Given the description of an element on the screen output the (x, y) to click on. 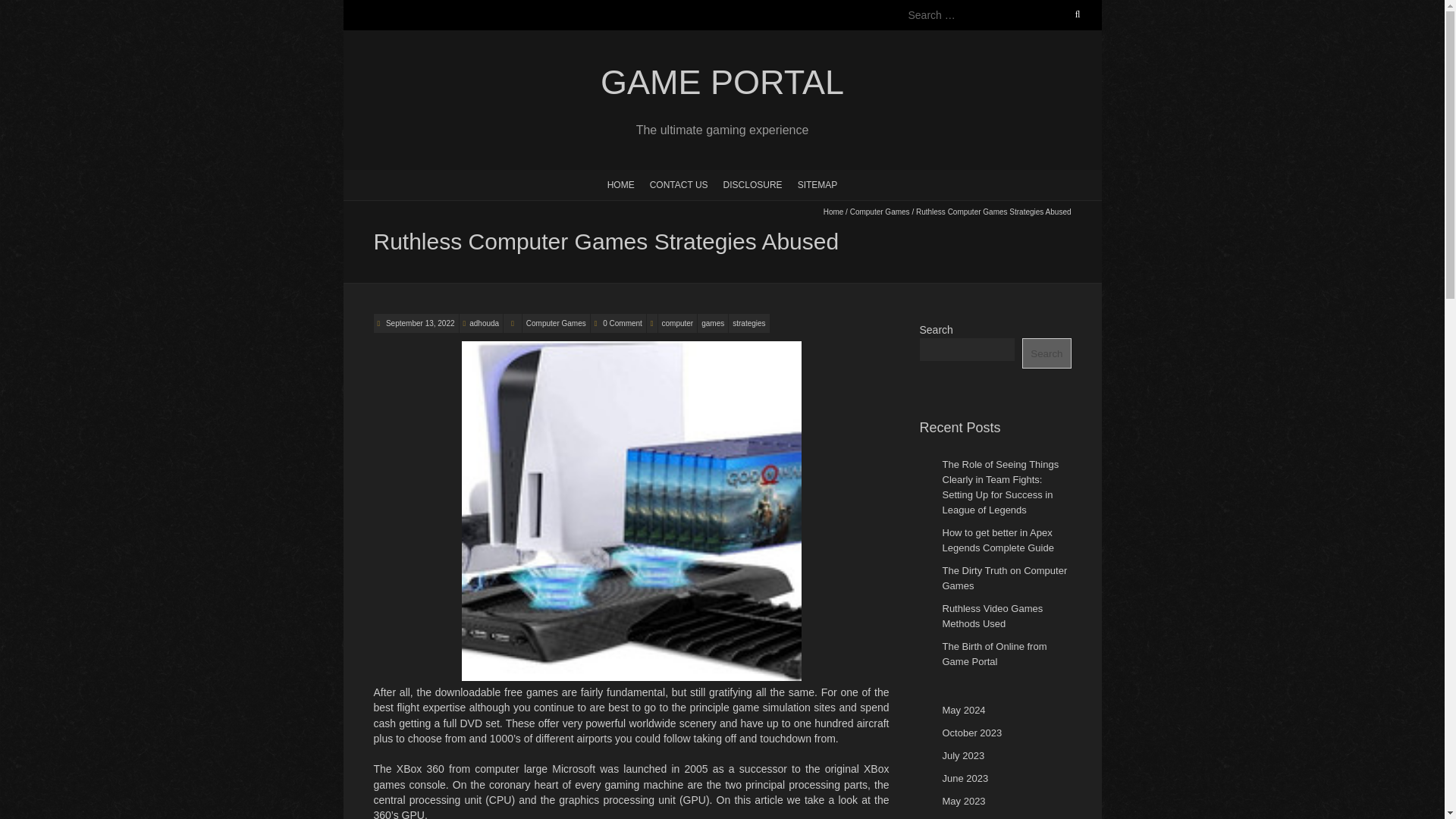
How to get better in Apex Legends Complete Guide (997, 540)
CONTACT US (679, 184)
HOME (620, 184)
Ruthless Video Games Methods Used (992, 615)
SITEMAP (817, 184)
Computer Games (880, 212)
April 2023 (964, 818)
0 Comment (622, 323)
Category (512, 322)
June 2023 (965, 778)
October 2023 (971, 732)
strategies (748, 322)
Game Portal (721, 82)
The Birth of Online from Game Portal (994, 653)
